Given the description of an element on the screen output the (x, y) to click on. 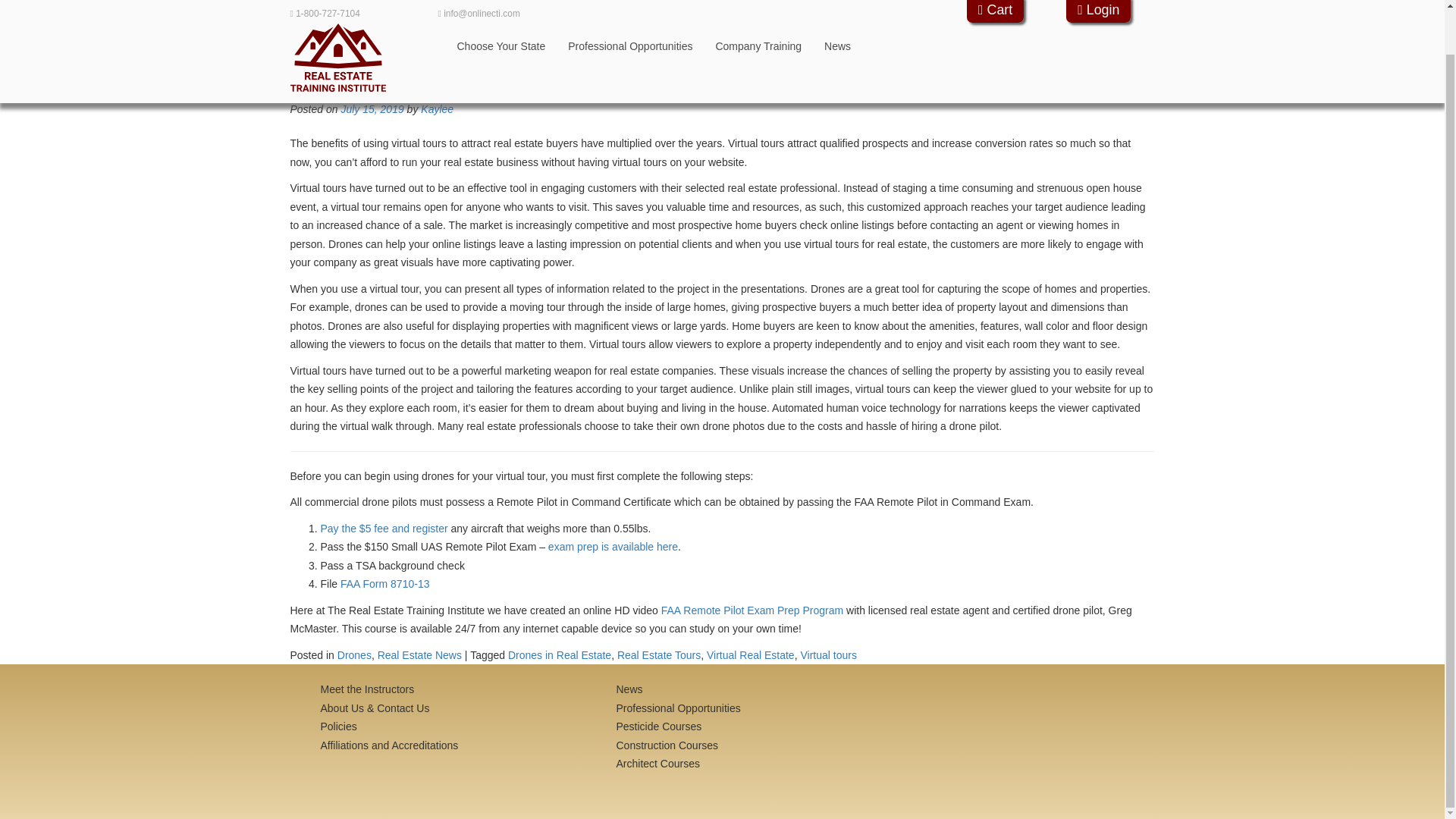
Permalink to THE VIRTUAL REALITY TOUR ADVANTAGE (565, 76)
Choose Your State (501, 9)
2:20 pm (371, 109)
View all posts by Kaylee (436, 109)
